Given the description of an element on the screen output the (x, y) to click on. 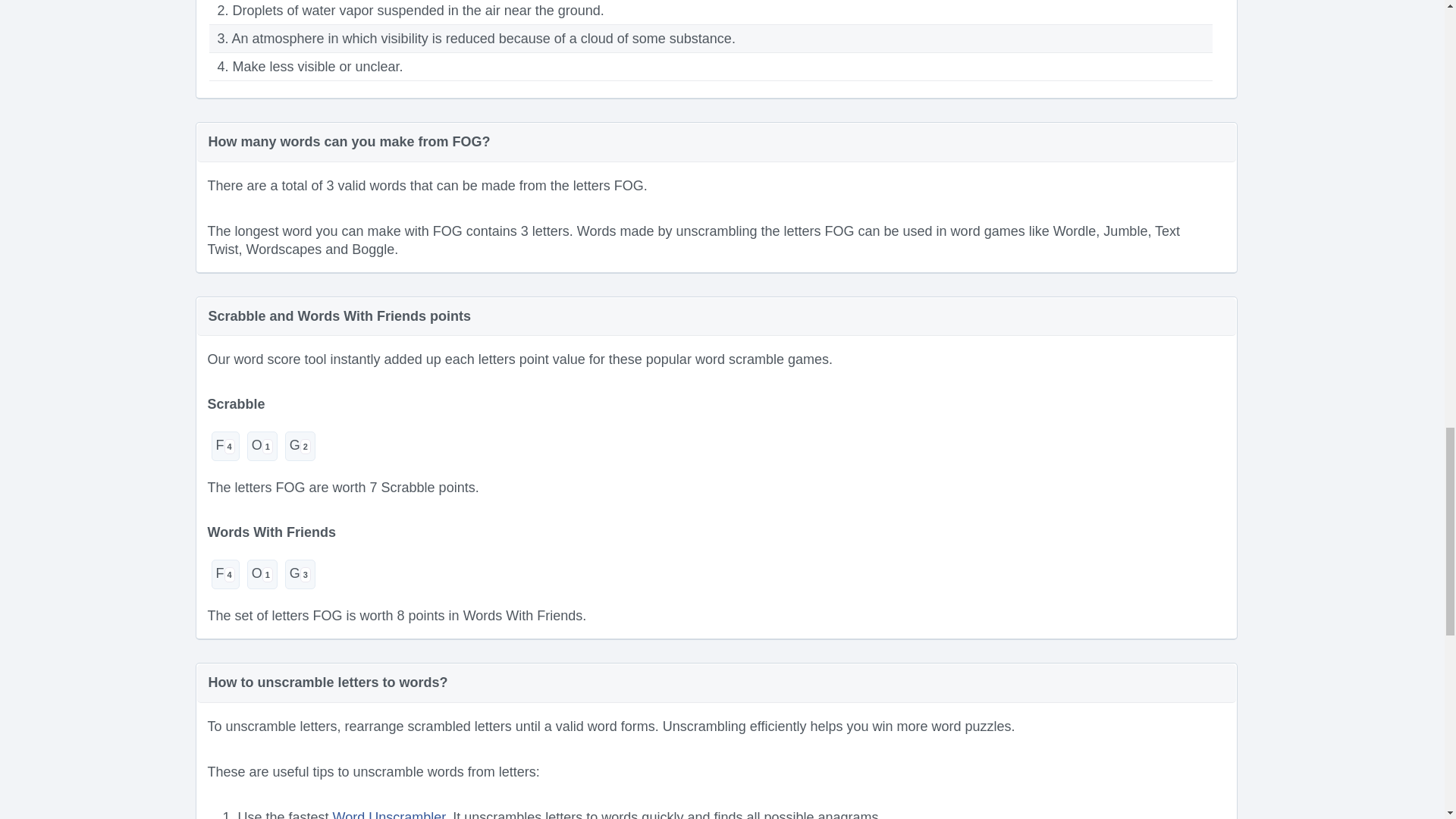
Word Unscrambler (389, 814)
